Given the description of an element on the screen output the (x, y) to click on. 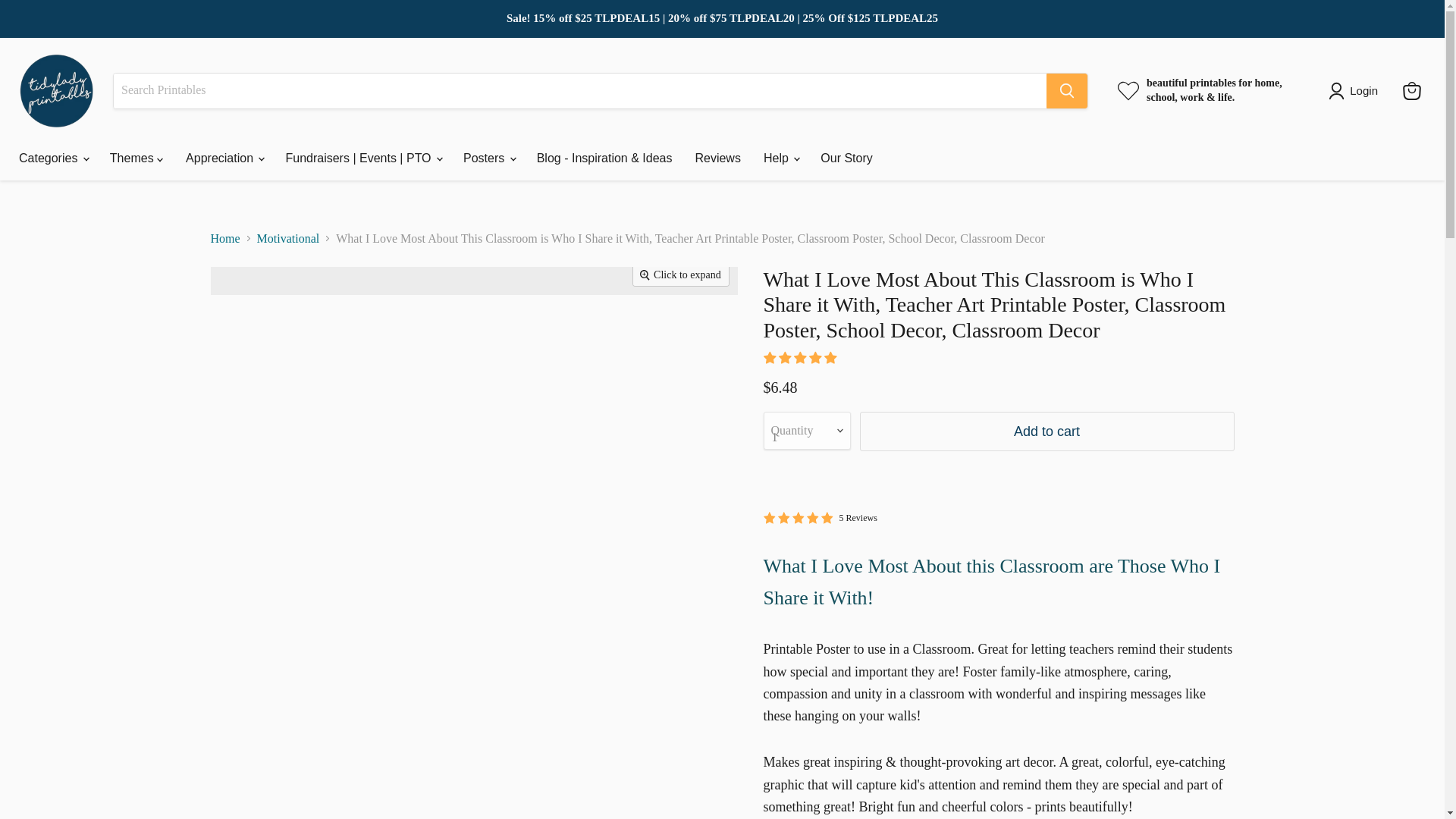
View cart (1411, 90)
Login (1355, 90)
